Given the description of an element on the screen output the (x, y) to click on. 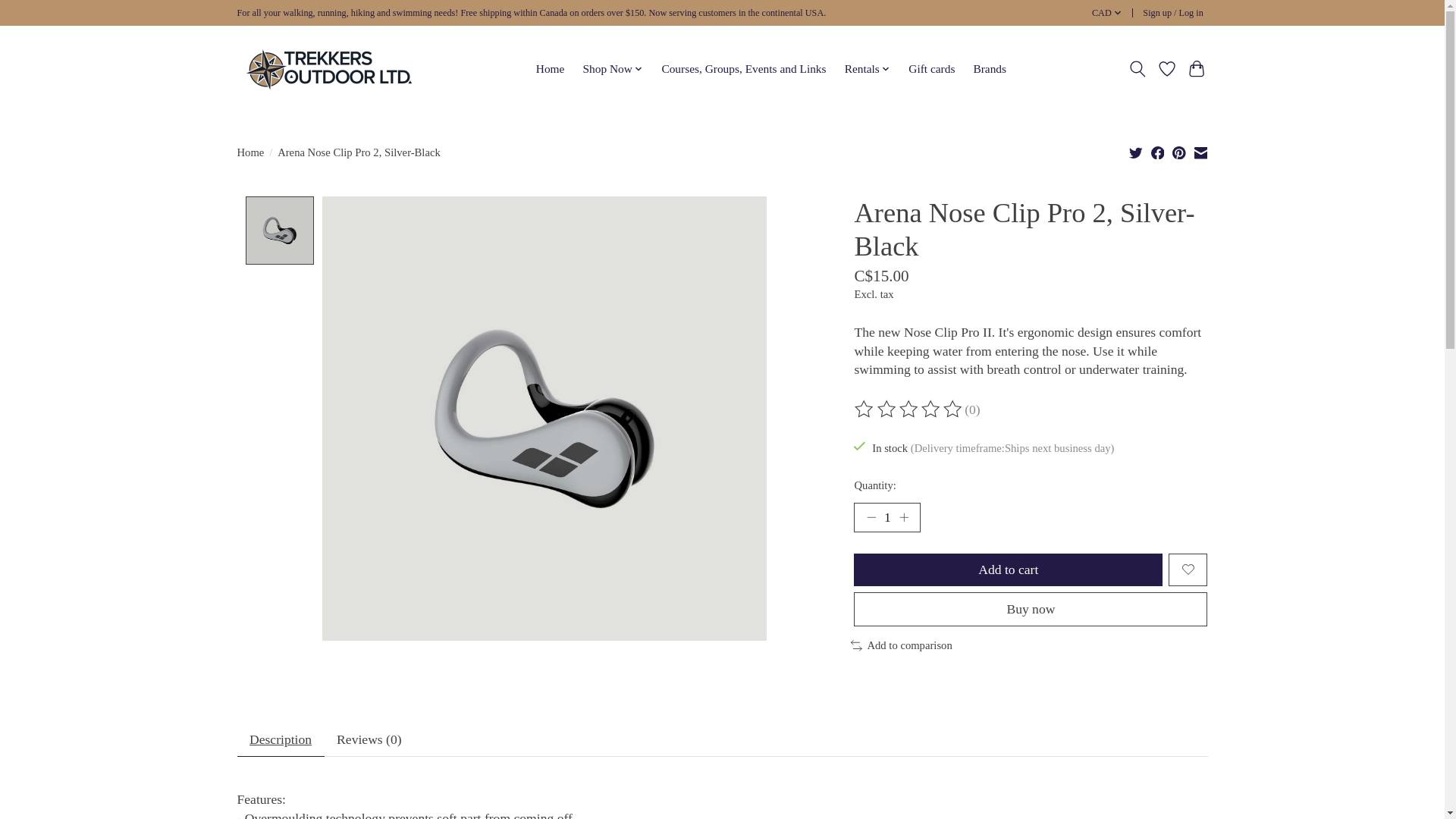
Share by Email (1200, 151)
CAD (1106, 13)
Share on Twitter (1135, 151)
My account (1173, 13)
Share on Facebook (1157, 151)
Shop Now (611, 68)
Home (550, 68)
1 (886, 517)
Share on Pinterest (1178, 151)
Running, walking, hiking and swimming supply (328, 69)
